Given the description of an element on the screen output the (x, y) to click on. 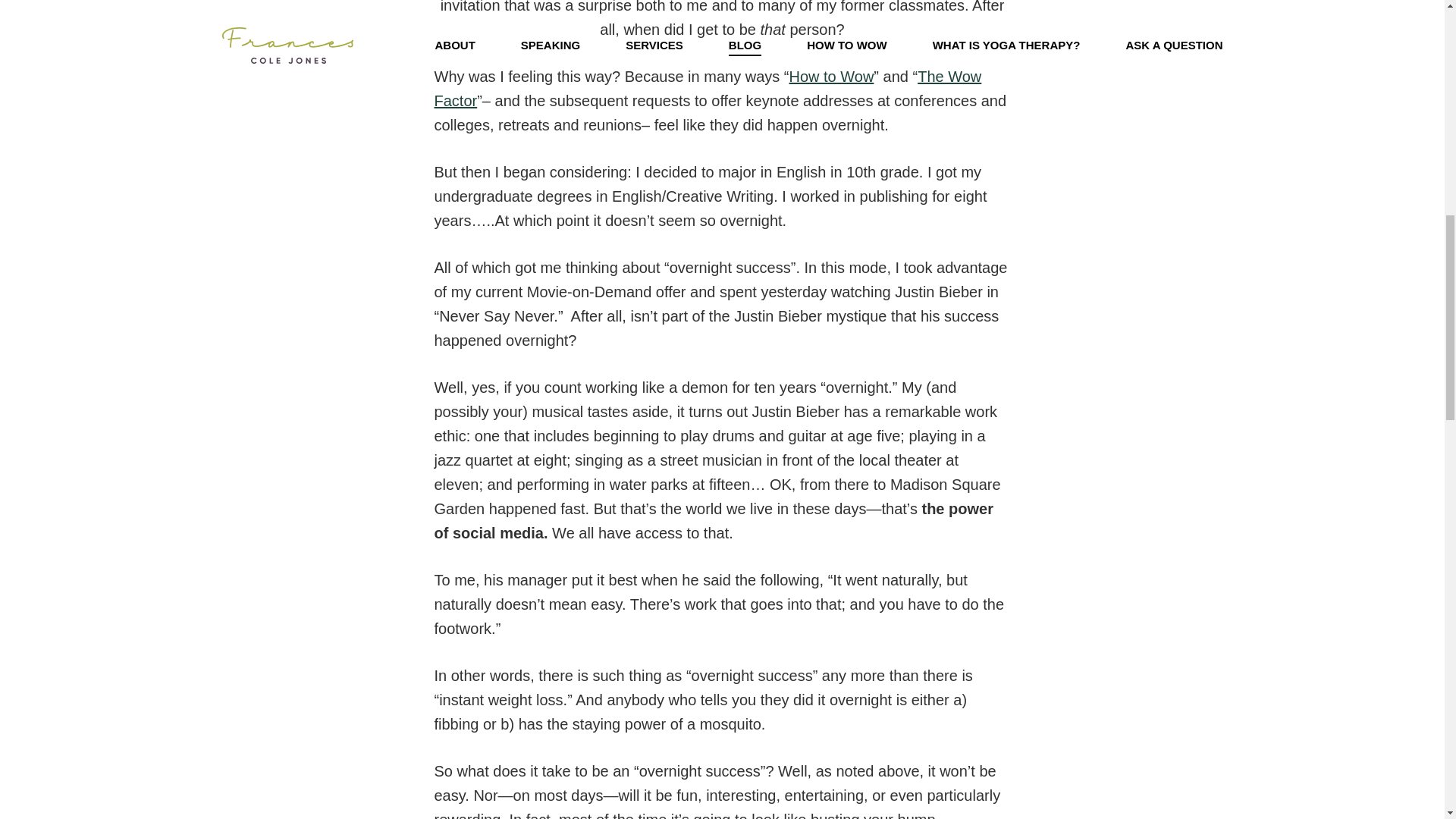
The Wow Factor (707, 98)
How to Wow (831, 89)
